Given the description of an element on the screen output the (x, y) to click on. 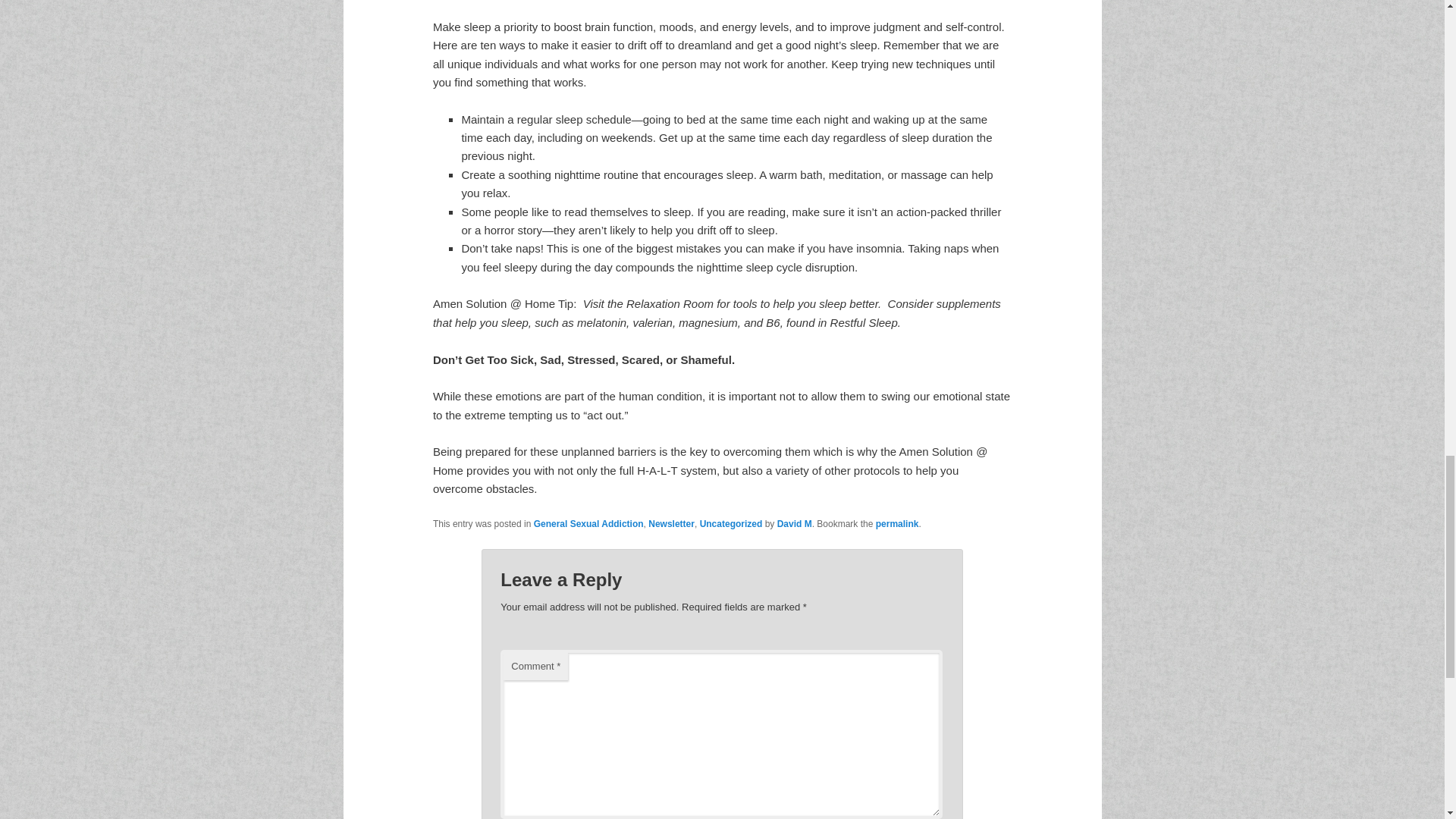
General Sexual Addiction (588, 523)
Permalink to Overcome BarriersBy AmenClinics (897, 523)
David M (794, 523)
Uncategorized (731, 523)
Newsletter (670, 523)
permalink (897, 523)
